Given the description of an element on the screen output the (x, y) to click on. 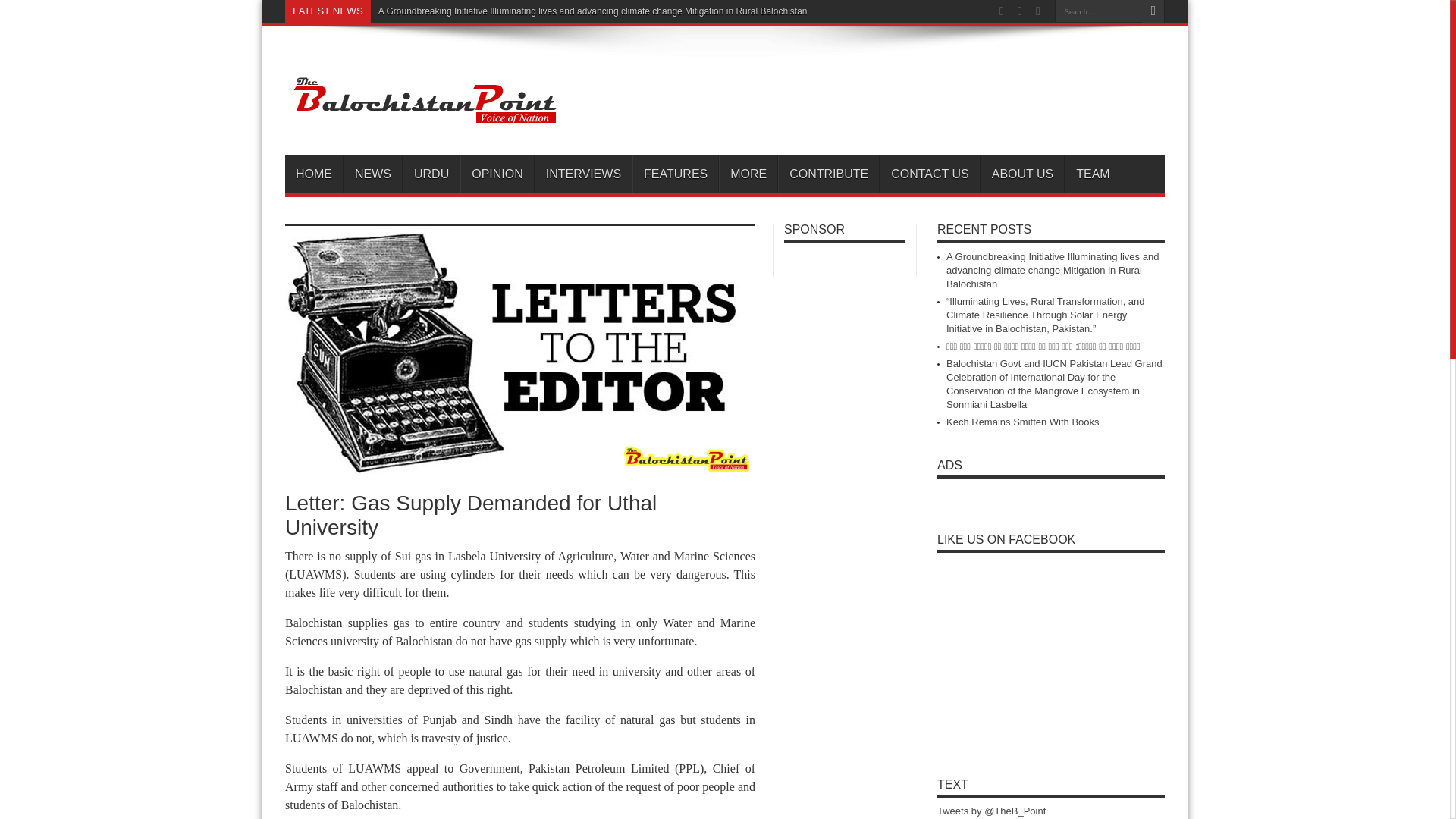
URDU (431, 174)
HOME (313, 174)
INTERVIEWS (582, 174)
NEWS (372, 174)
OPINION (497, 174)
Search... (1097, 11)
FEATURES (674, 174)
Search (1152, 11)
